Given the description of an element on the screen output the (x, y) to click on. 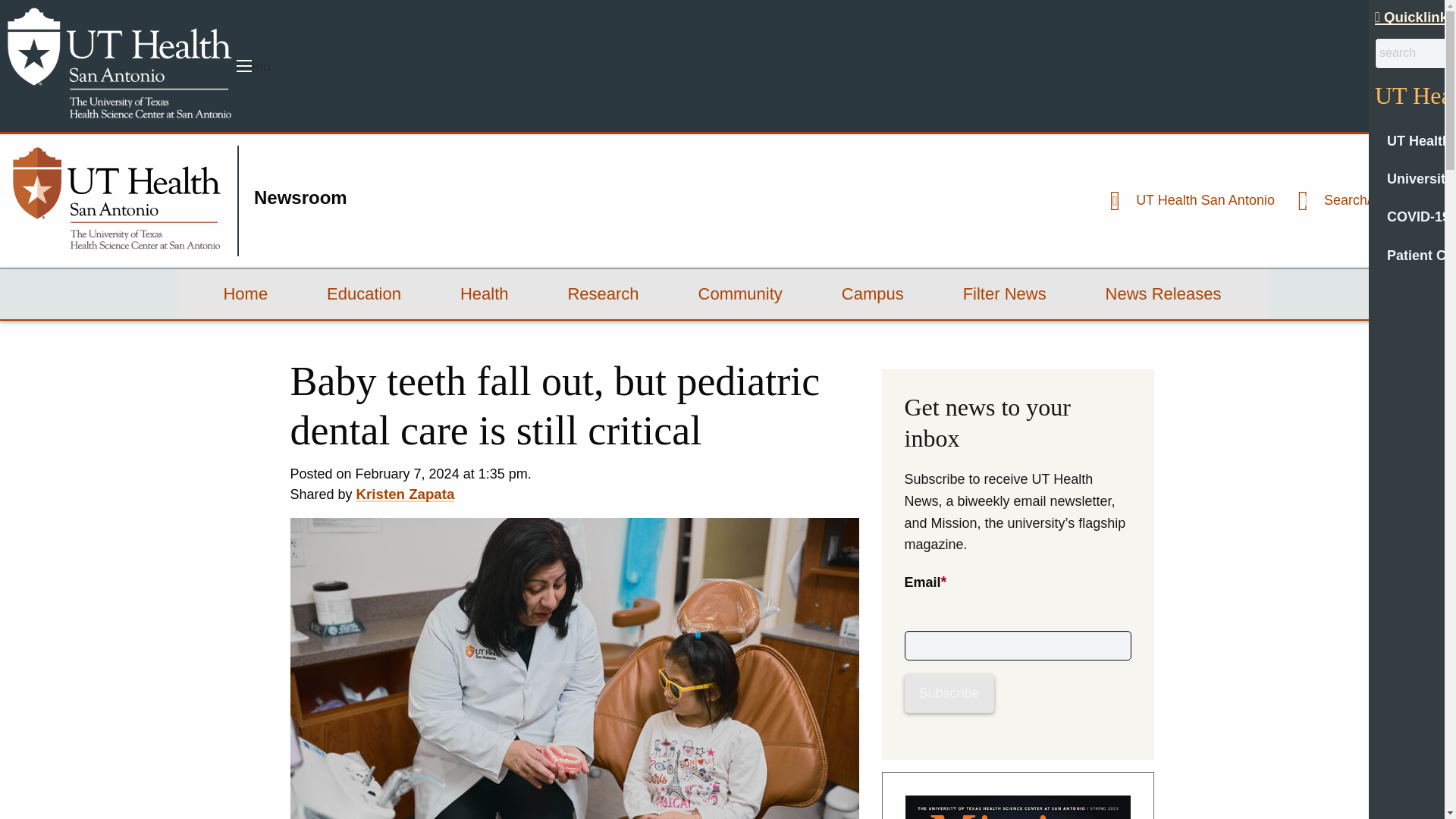
Home (245, 294)
Subscribe (948, 693)
Filter News (1004, 294)
UT Health San Antonio (1186, 200)
Subscribe (948, 693)
Menu (243, 65)
Community (739, 294)
Health (484, 294)
Education (363, 294)
News Releases (1163, 294)
Campus (872, 294)
Research (602, 294)
Kristen Zapata (405, 494)
